Given the description of an element on the screen output the (x, y) to click on. 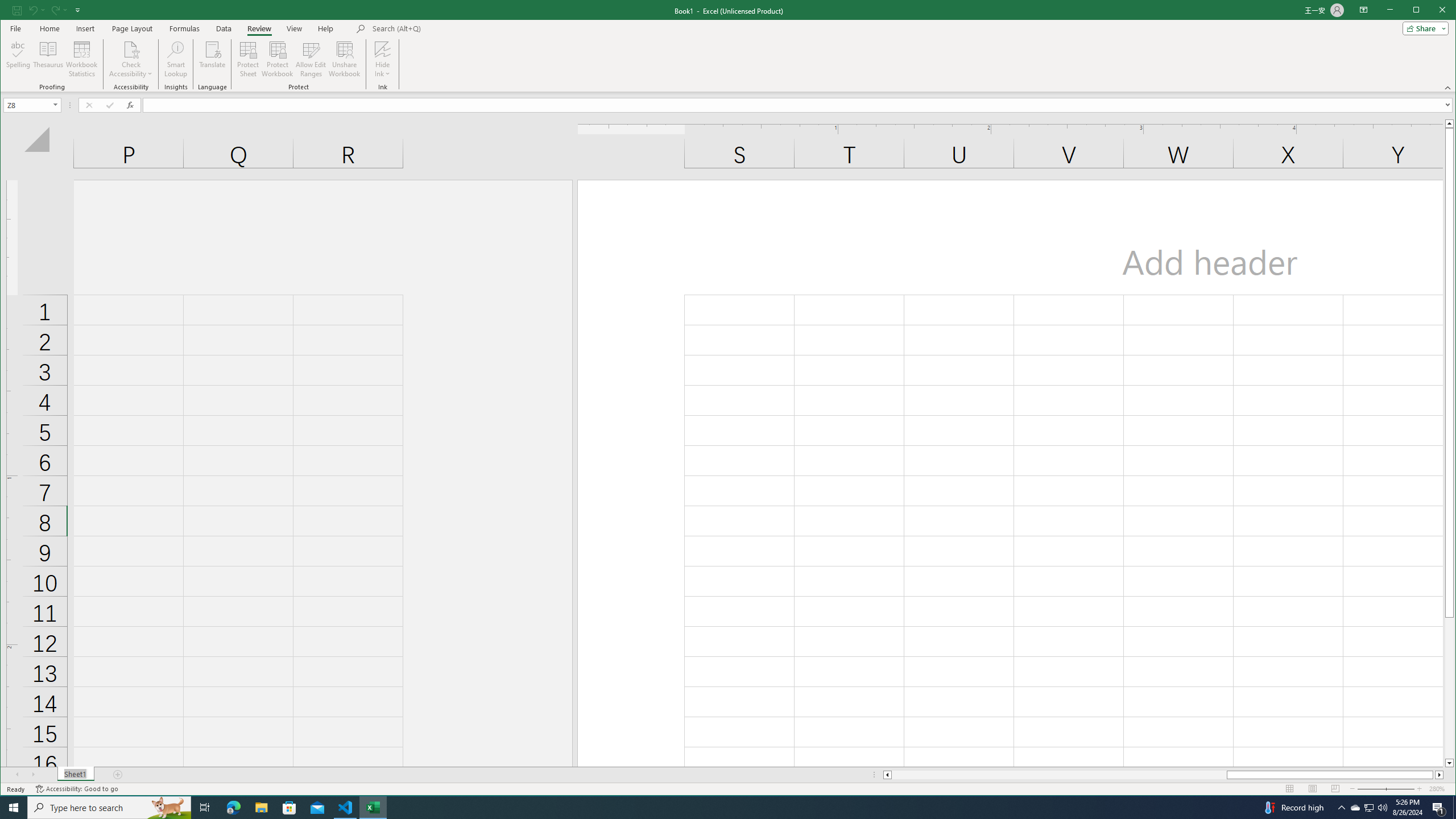
Thesaurus... (48, 59)
Smart Lookup (176, 59)
Protect Workbook... (277, 59)
Action Center, 1 new notification (1439, 807)
